Given the description of an element on the screen output the (x, y) to click on. 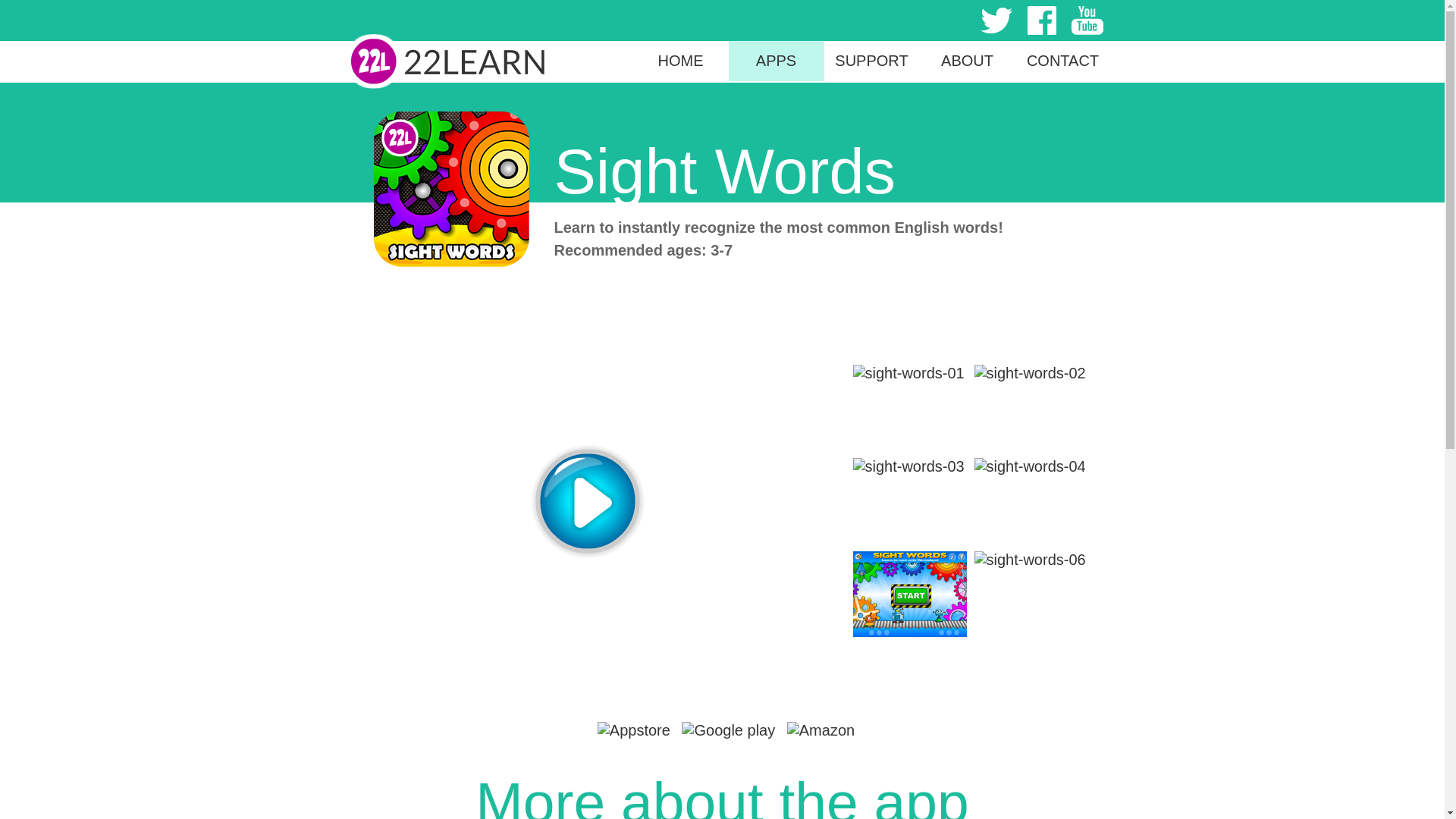
Sight Words icon Element type: hover (450, 188)
APPS Element type: text (776, 60)
22Learn Element type: hover (446, 62)
ABOUT Element type: text (967, 60)
CONTACT Element type: text (1062, 60)
HOME Element type: text (680, 60)
SUPPORT Element type: text (870, 60)
